Given the description of an element on the screen output the (x, y) to click on. 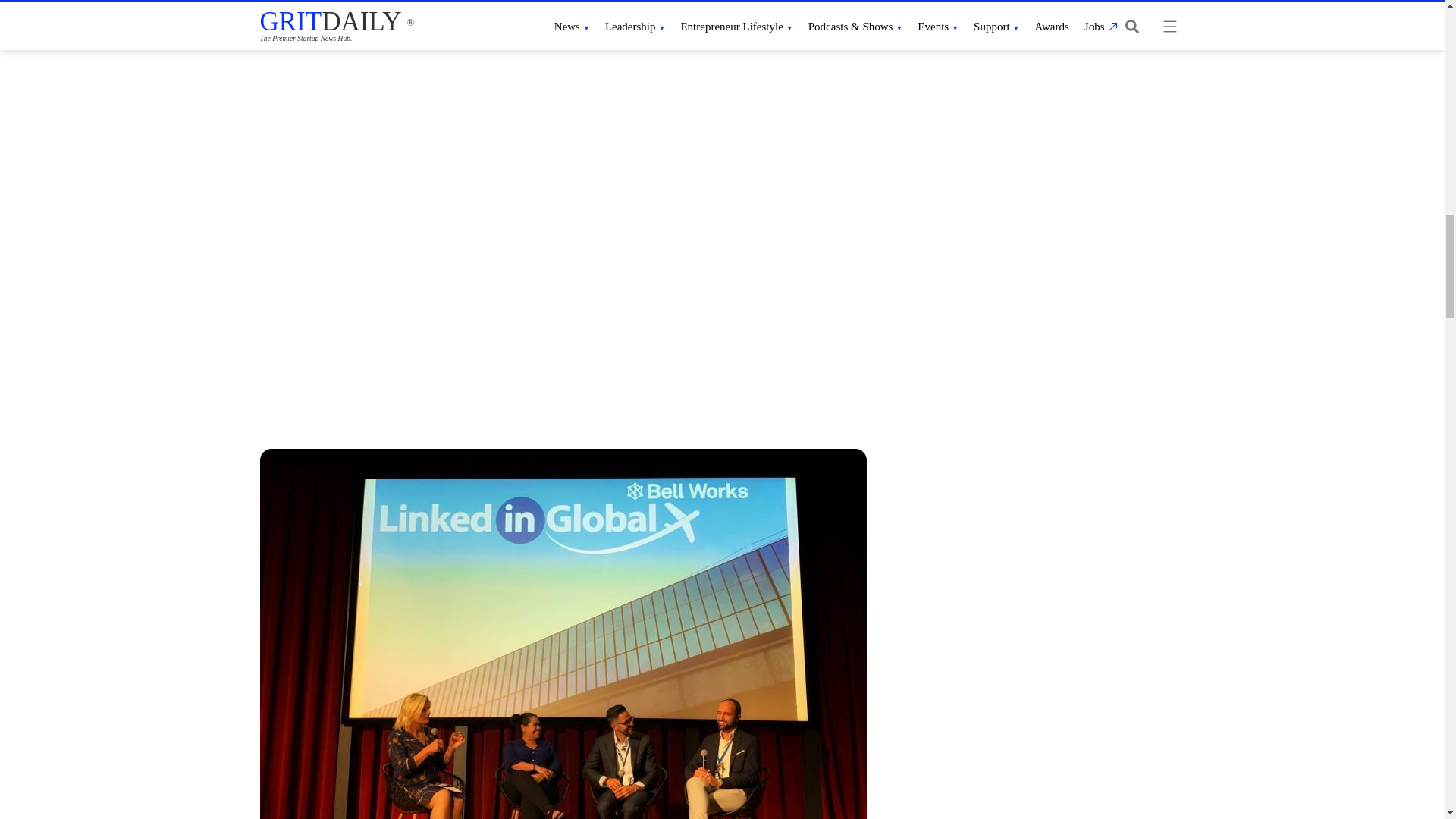
Email (1184, 152)
Messenger (1274, 152)
LinkedIn (1214, 152)
Twitter (1153, 152)
Facebook (1123, 152)
Copy Link (1243, 152)
